Given the description of an element on the screen output the (x, y) to click on. 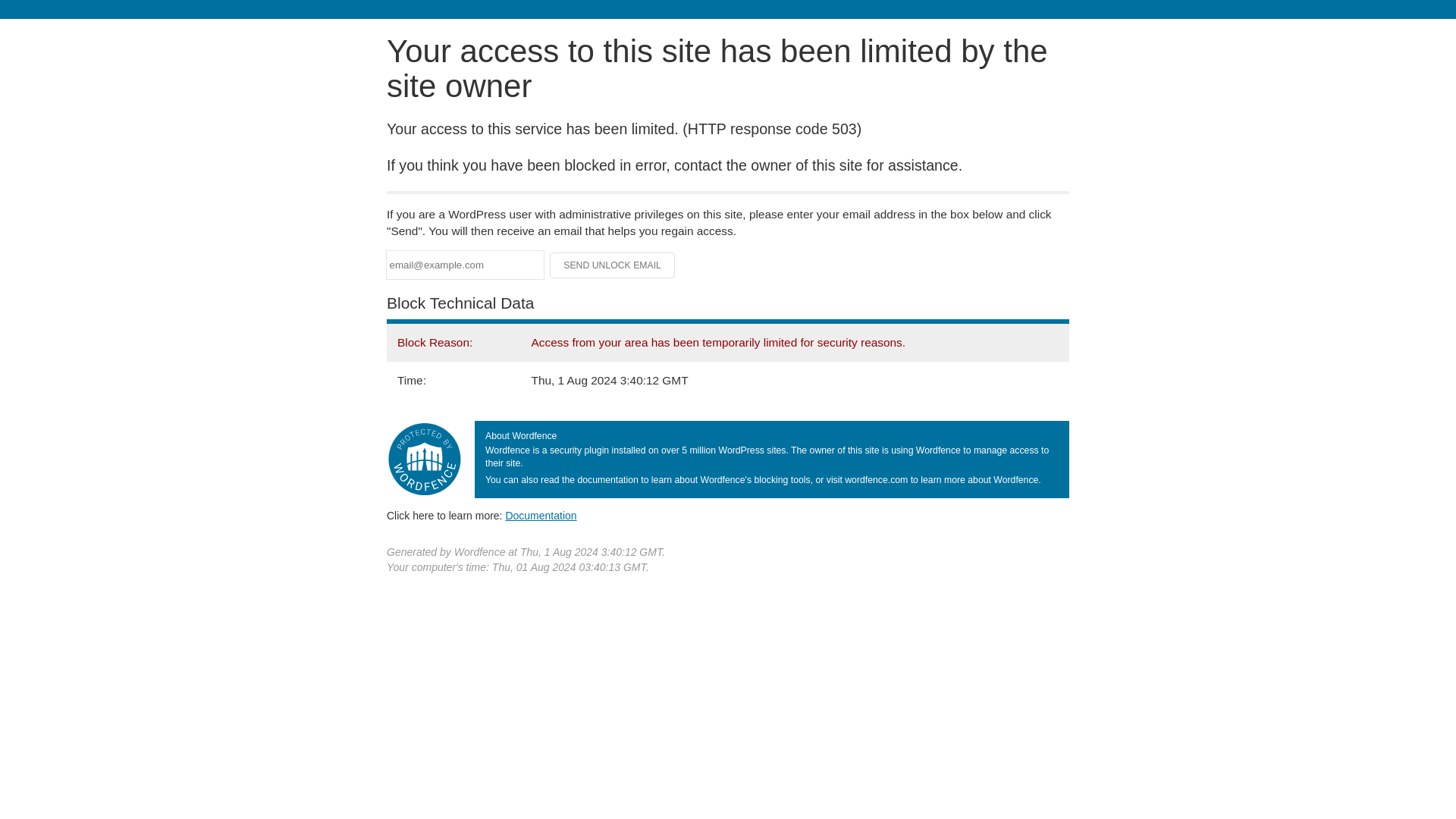
Documentation (540, 515)
Send Unlock Email (612, 265)
Send Unlock Email (612, 265)
